Given the description of an element on the screen output the (x, y) to click on. 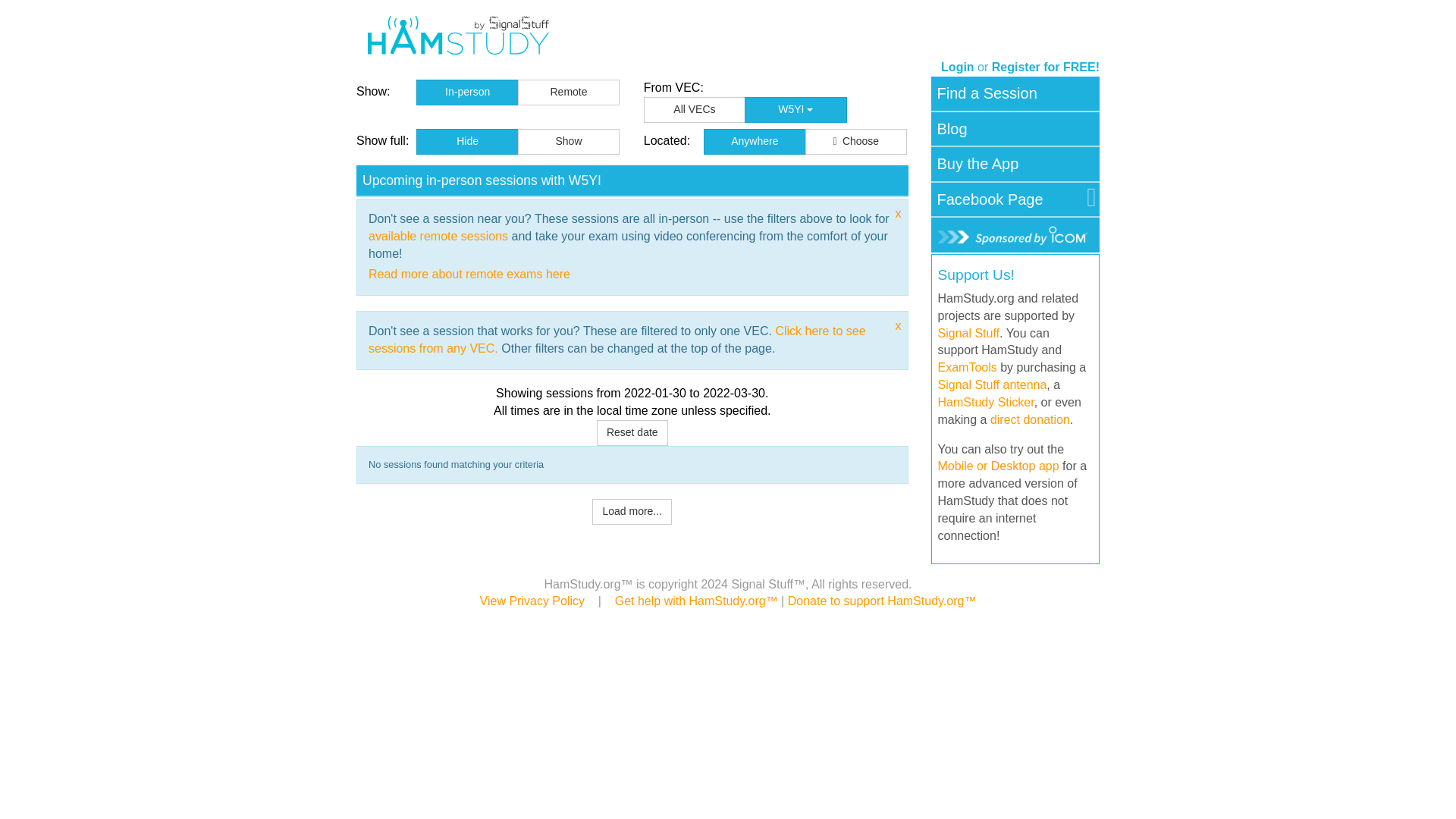
Click here to see sessions from any VEC. (617, 339)
Load more... (631, 511)
x (898, 325)
Blog (952, 129)
Hide (467, 141)
Reset date (632, 432)
Login (957, 66)
available remote sessions (438, 236)
Register for FREE! (1045, 66)
Read more about remote exams here (469, 273)
Anywhere (754, 141)
All VECs (694, 109)
W5YI (794, 109)
x (898, 213)
Remote (569, 92)
